Given the description of an element on the screen output the (x, y) to click on. 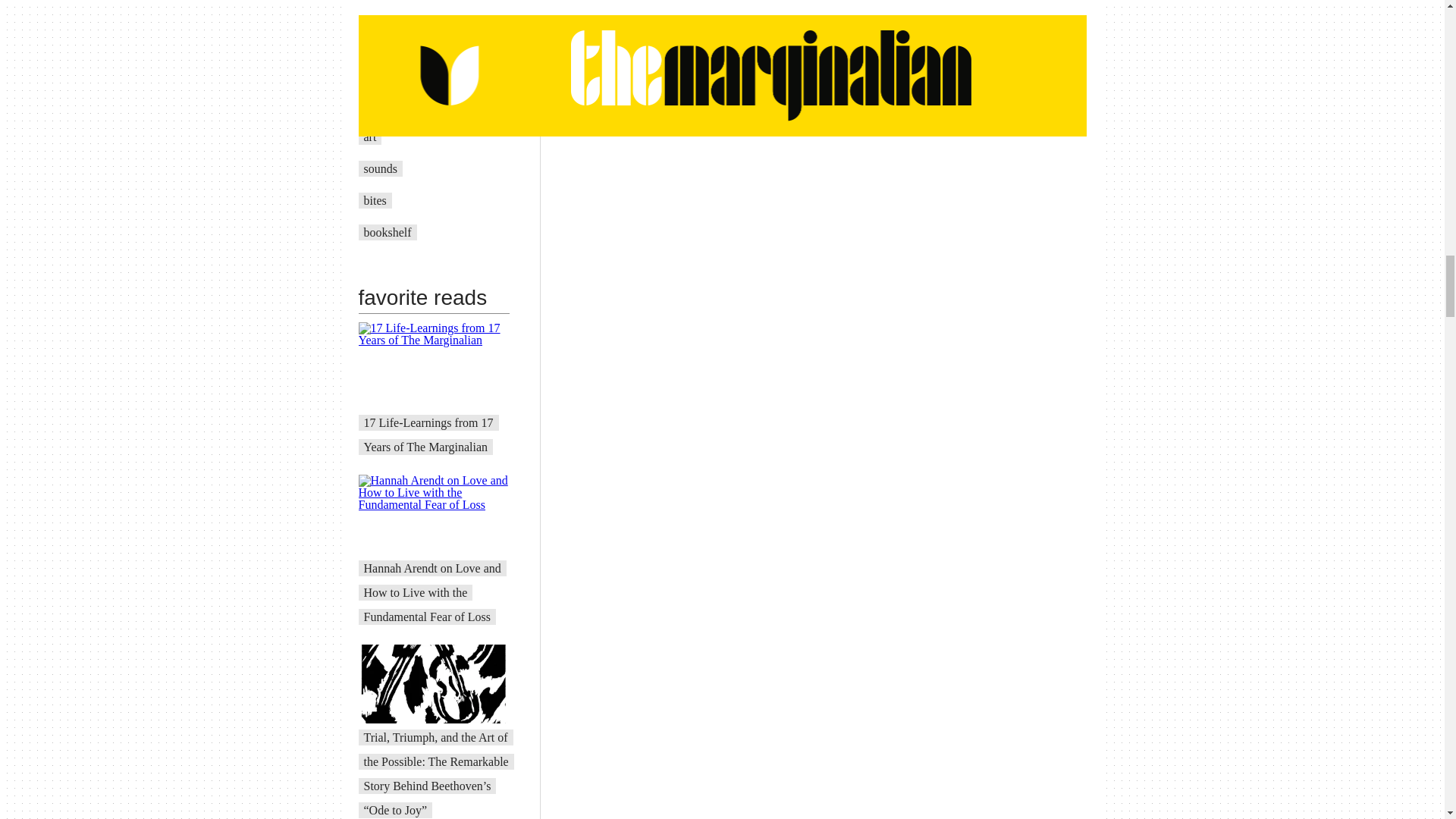
A Velocity of Being (412, 105)
bites (375, 200)
sounds (380, 168)
